Given the description of an element on the screen output the (x, y) to click on. 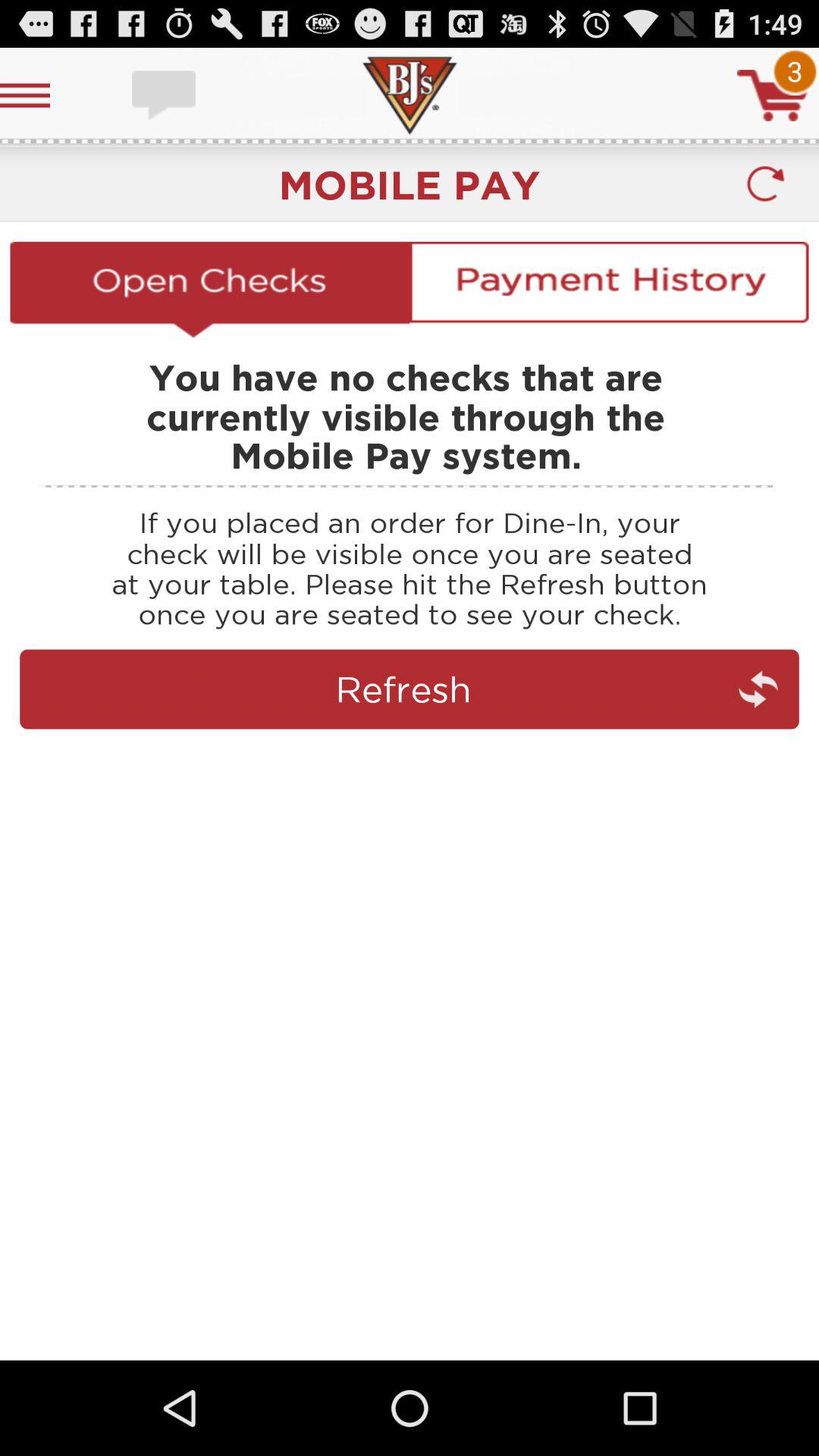
seeing in tha paragraph (409, 755)
